Given the description of an element on the screen output the (x, y) to click on. 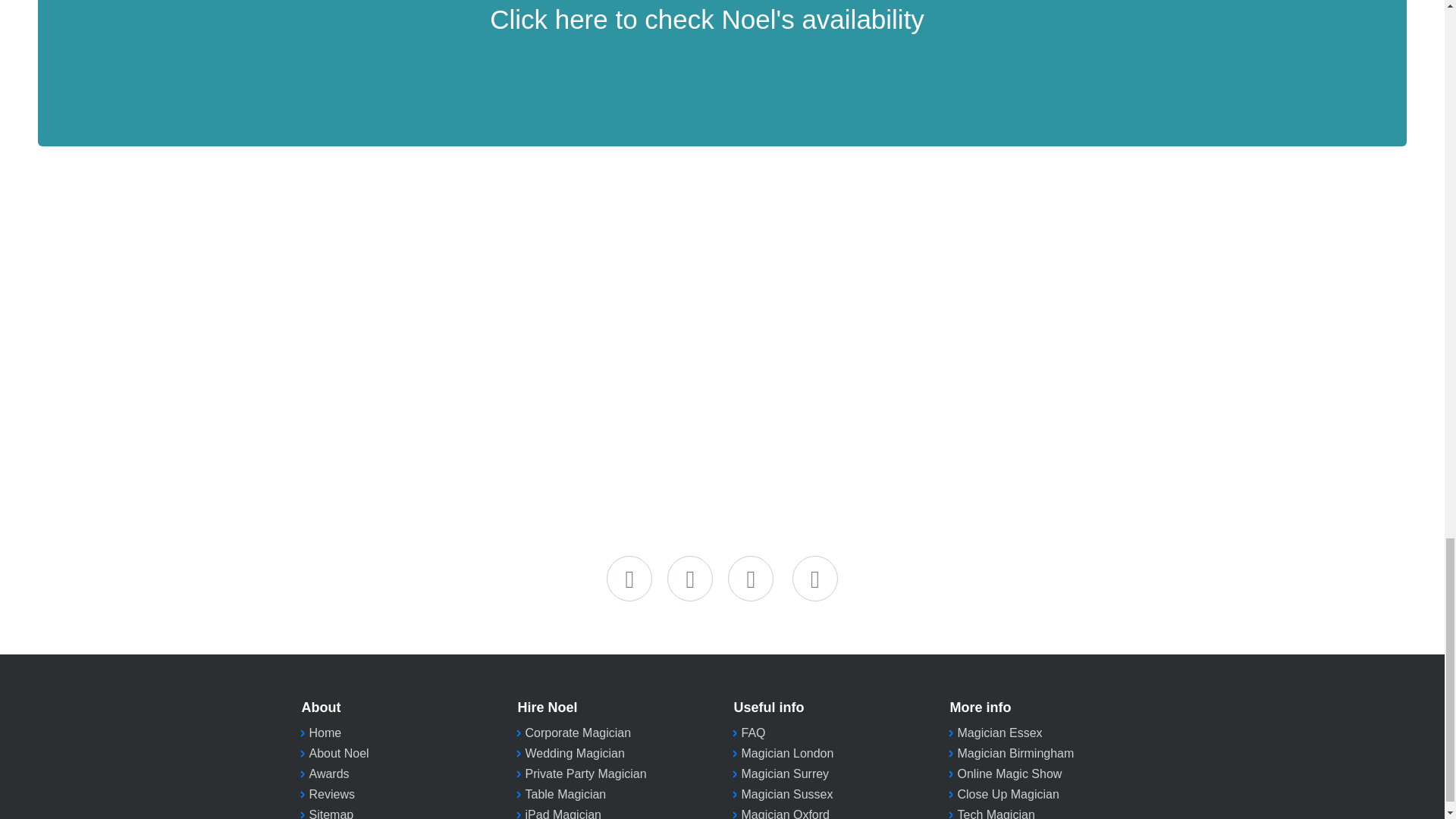
Table Magician (564, 793)
Magician London (787, 753)
Wedding Magician (574, 753)
Private Party Magician (585, 773)
Corporate Magician (577, 732)
Home (325, 732)
Awards (328, 773)
iPad Magician (562, 813)
Magician Surrey (785, 773)
About Noel (338, 753)
